Given the description of an element on the screen output the (x, y) to click on. 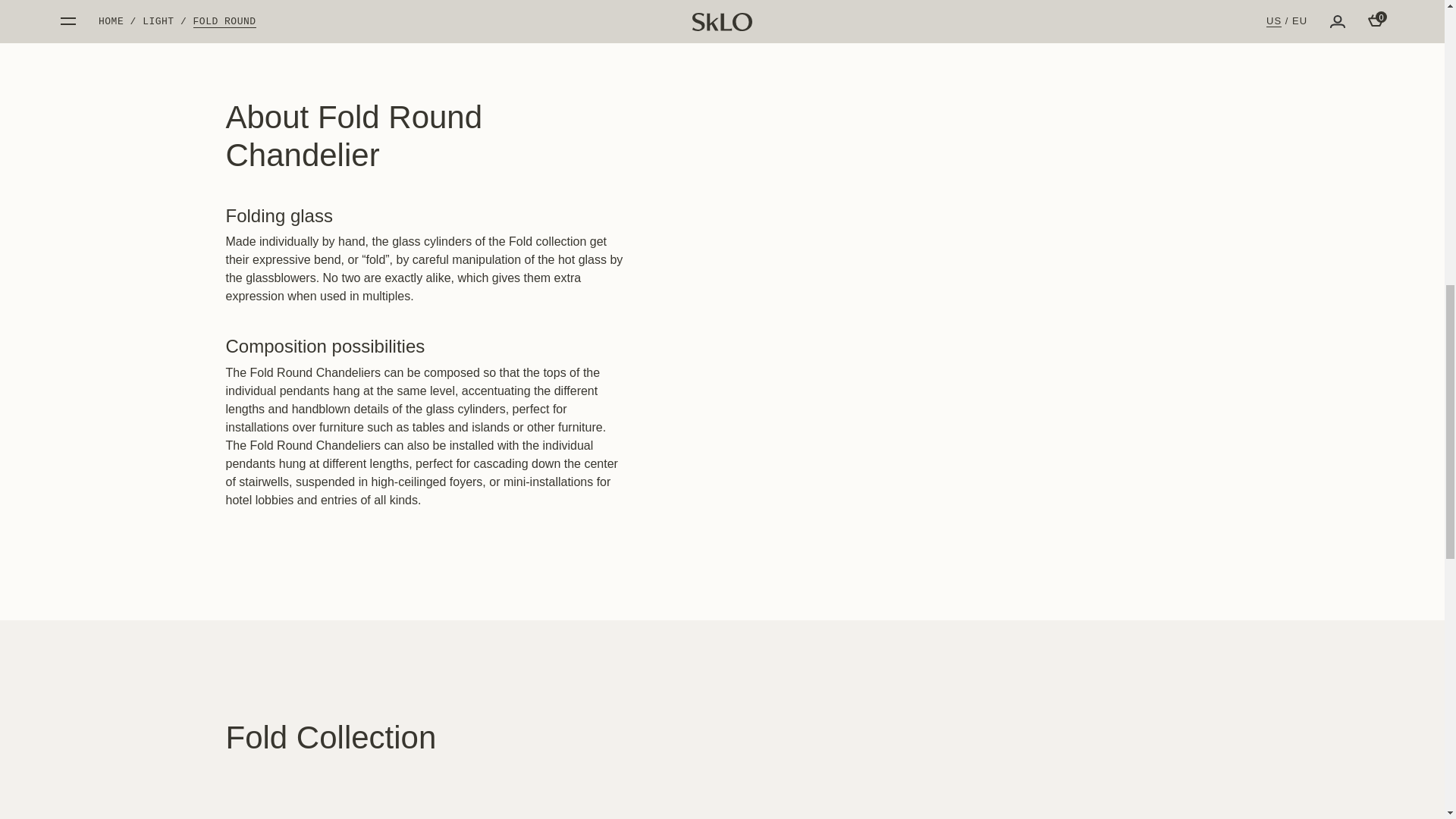
CARE INSTRUCTIONS (1073, 200)
SPEC SHEET FOLD ROUND 36 (1073, 175)
SPEC SHEET FOLD ROUND 12 (1073, 123)
SPEC SHEET FOLD ROUND 24 (1073, 149)
